Given the description of an element on the screen output the (x, y) to click on. 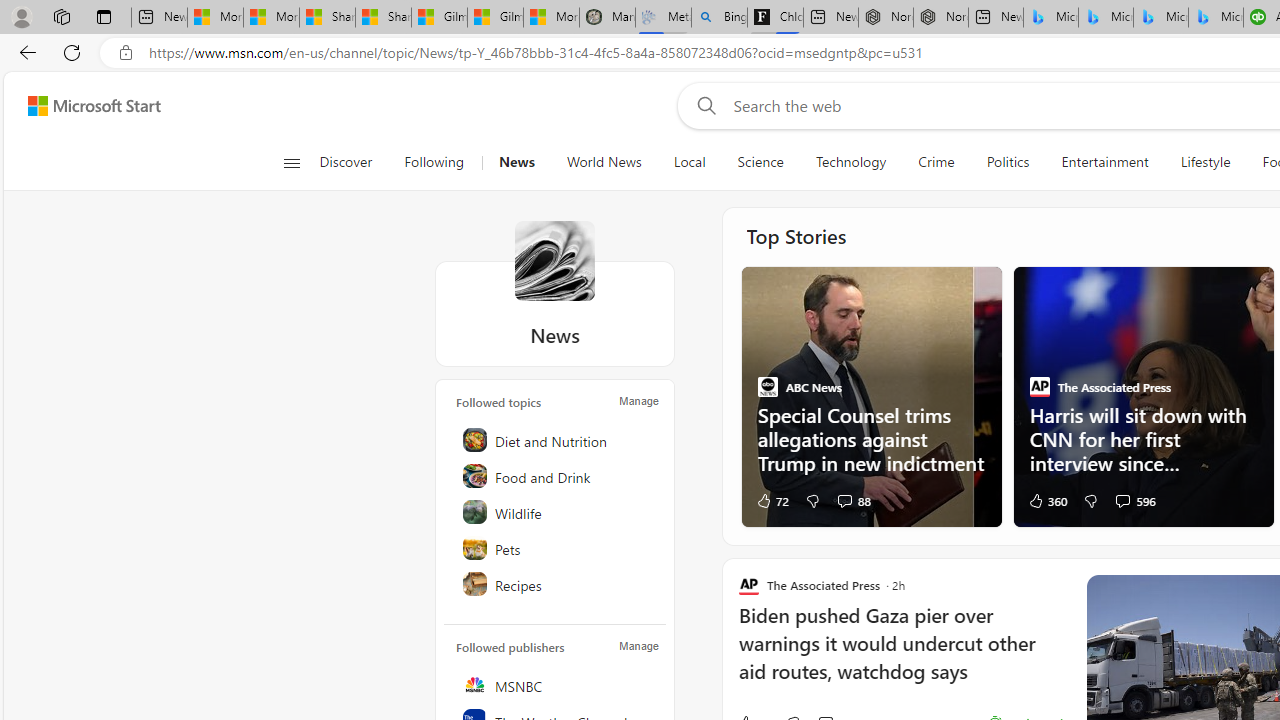
Lifestyle (1205, 162)
Pets (556, 547)
Manatee Mortality Statistics | FWC (606, 17)
View comments 596 Comment (1134, 500)
Web search (702, 105)
Technology (850, 162)
72 Like (772, 500)
Technology (851, 162)
Skip to footer (82, 105)
Entertainment (1104, 162)
